Given the description of an element on the screen output the (x, y) to click on. 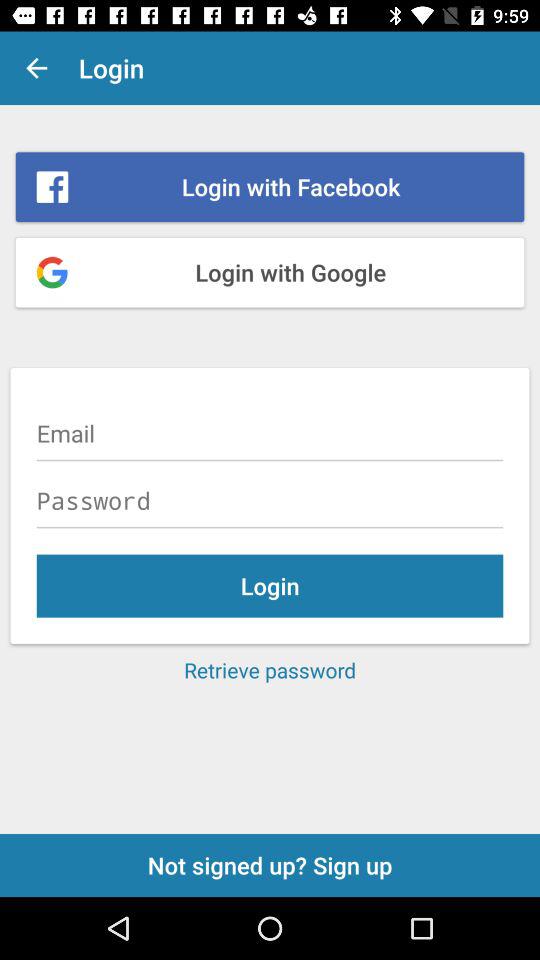
select app next to login (36, 68)
